Given the description of an element on the screen output the (x, y) to click on. 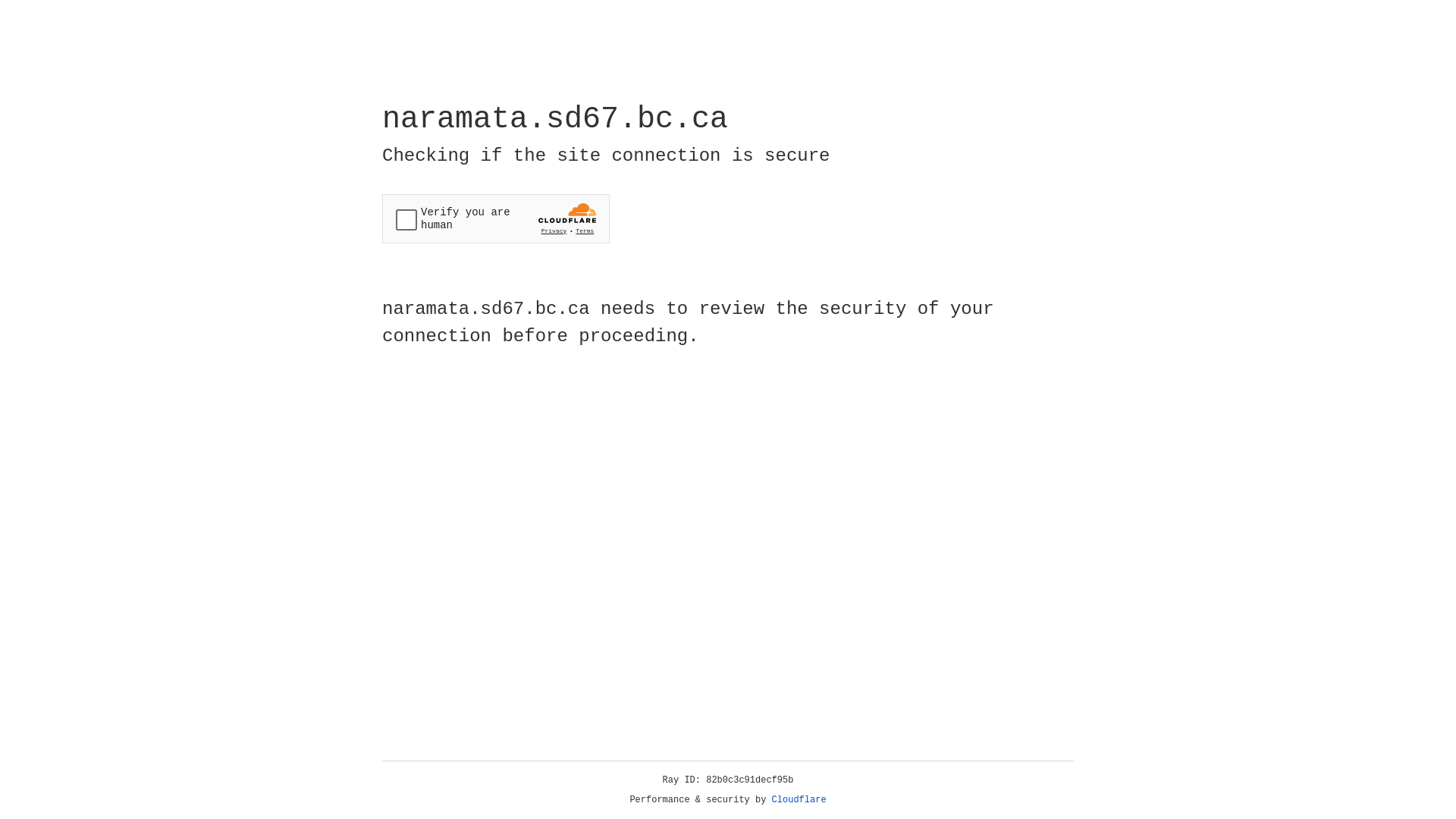
Widget containing a Cloudflare security challenge Element type: hover (495, 218)
Cloudflare Element type: text (798, 799)
